Given the description of an element on the screen output the (x, y) to click on. 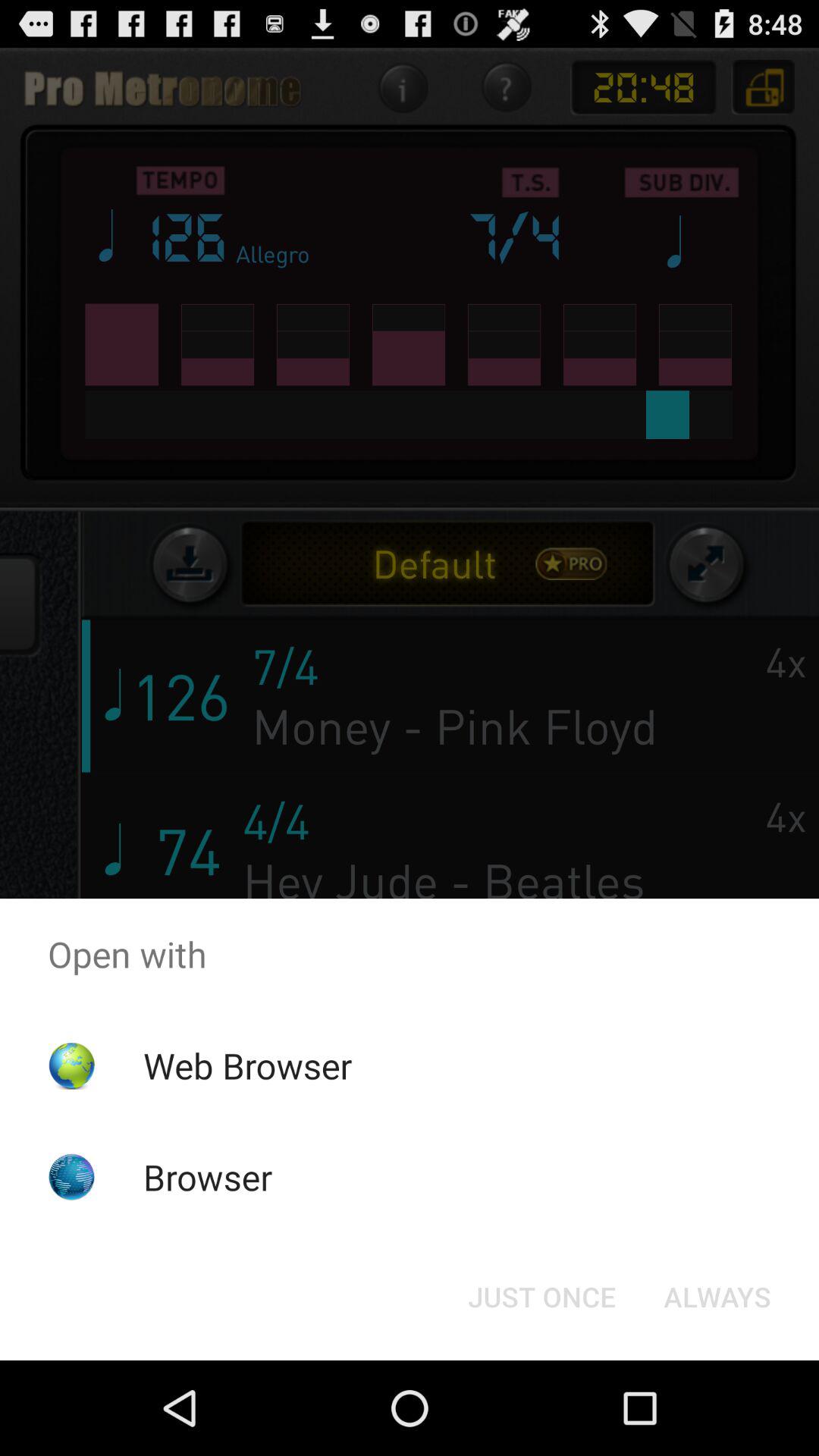
open always icon (717, 1296)
